Given the description of an element on the screen output the (x, y) to click on. 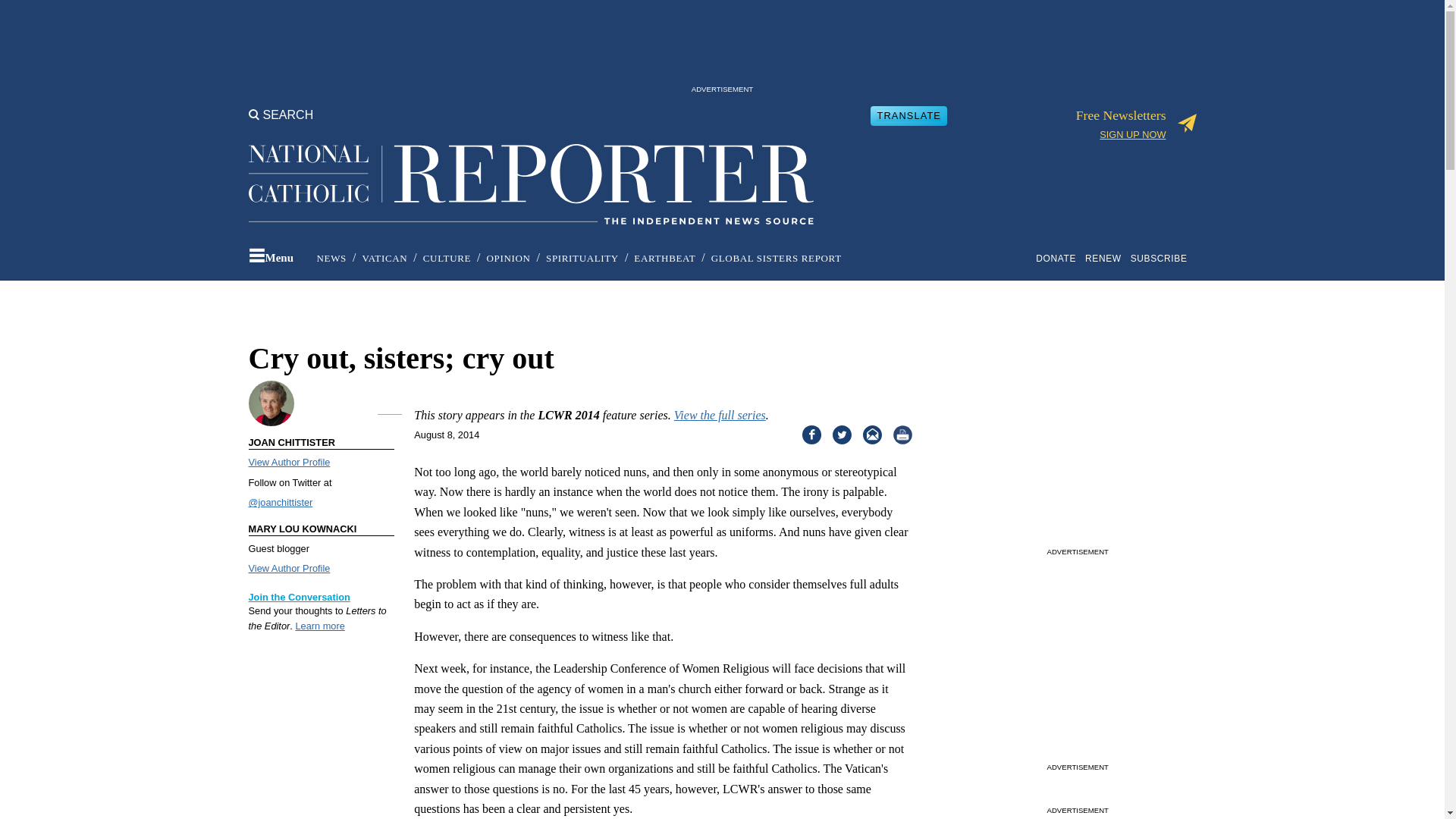
Send a letter to the editor (319, 625)
RENEW (1105, 257)
OPINION (508, 257)
Back to National Catholic Reporter homepage (530, 171)
GLOBAL SISTERS REPORT (776, 257)
CULTURE (446, 257)
3rd party ad content (721, 46)
NEWS (331, 257)
SPIRITUALITY (582, 257)
EARTHBEAT (664, 257)
SIGN UP NOW (1132, 134)
3rd party ad content (1077, 447)
SUBSCRIBE (1162, 257)
TRANSLATE (908, 115)
